Given the description of an element on the screen output the (x, y) to click on. 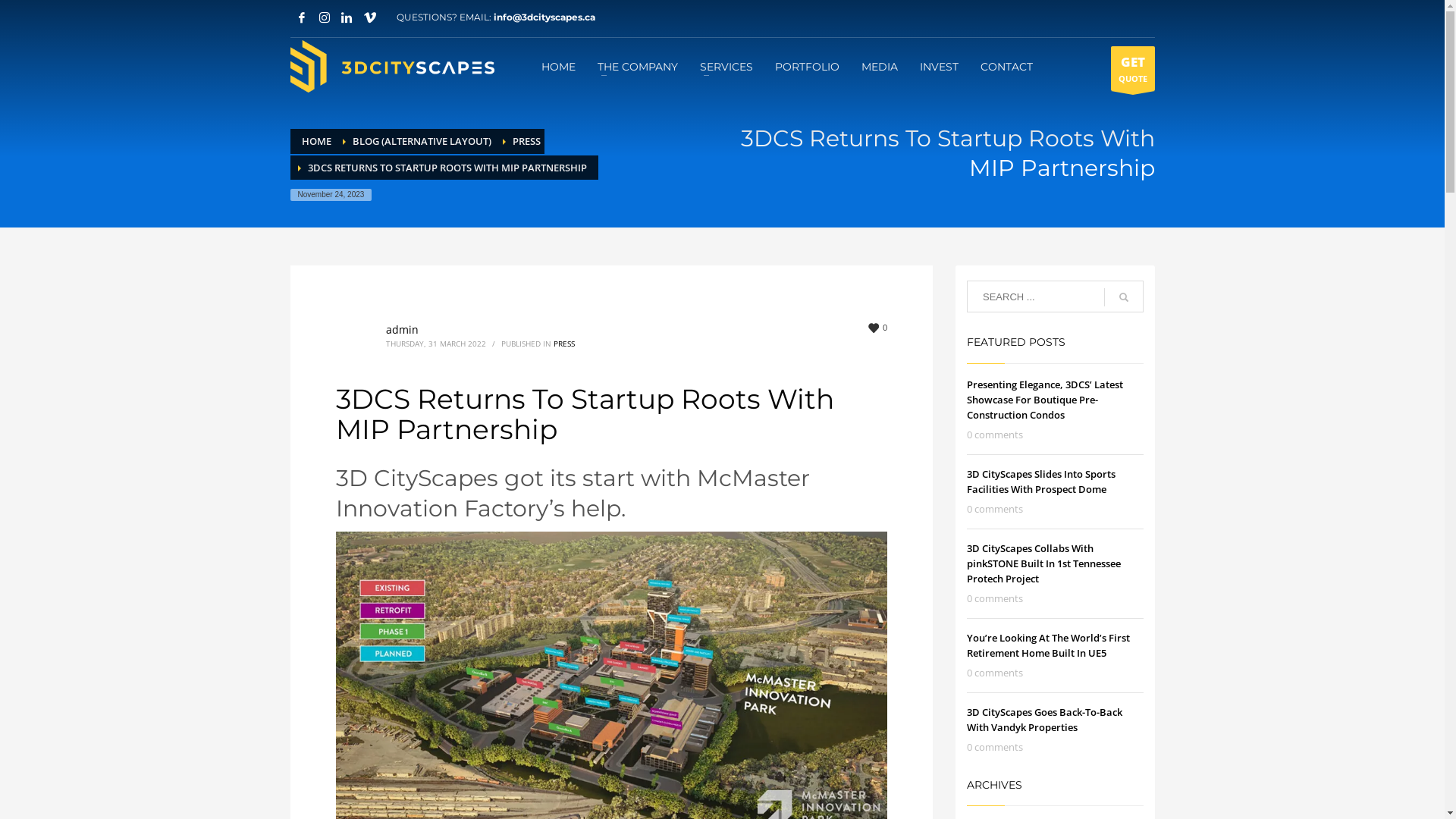
admin Element type: text (401, 329)
Facebook Element type: hover (300, 17)
3D CityScapes Goes Back-To-Back With Vandyk Properties Element type: text (1044, 719)
INVEST Element type: text (938, 65)
HOME Element type: text (316, 140)
PORTFOLIO Element type: text (806, 65)
BLOG (ALTERNATIVE LAYOUT) Element type: text (420, 140)
SERVICES Element type: text (726, 65)
PRESS Element type: text (563, 343)
GET
QUOTE Element type: text (1132, 67)
MEDIA Element type: text (879, 65)
3D Interactive Environments Element type: hover (391, 66)
THE COMPANY Element type: text (637, 65)
PRESS Element type: text (526, 140)
0 Element type: text (877, 326)
go Element type: text (1123, 297)
CONTACT Element type: text (1006, 65)
Instagram Element type: hover (323, 17)
HOME Element type: text (558, 65)
LinkedIn Element type: hover (346, 17)
Vimeo Element type: hover (368, 17)
info@3dcityscapes.ca Element type: text (543, 16)
